Given the description of an element on the screen output the (x, y) to click on. 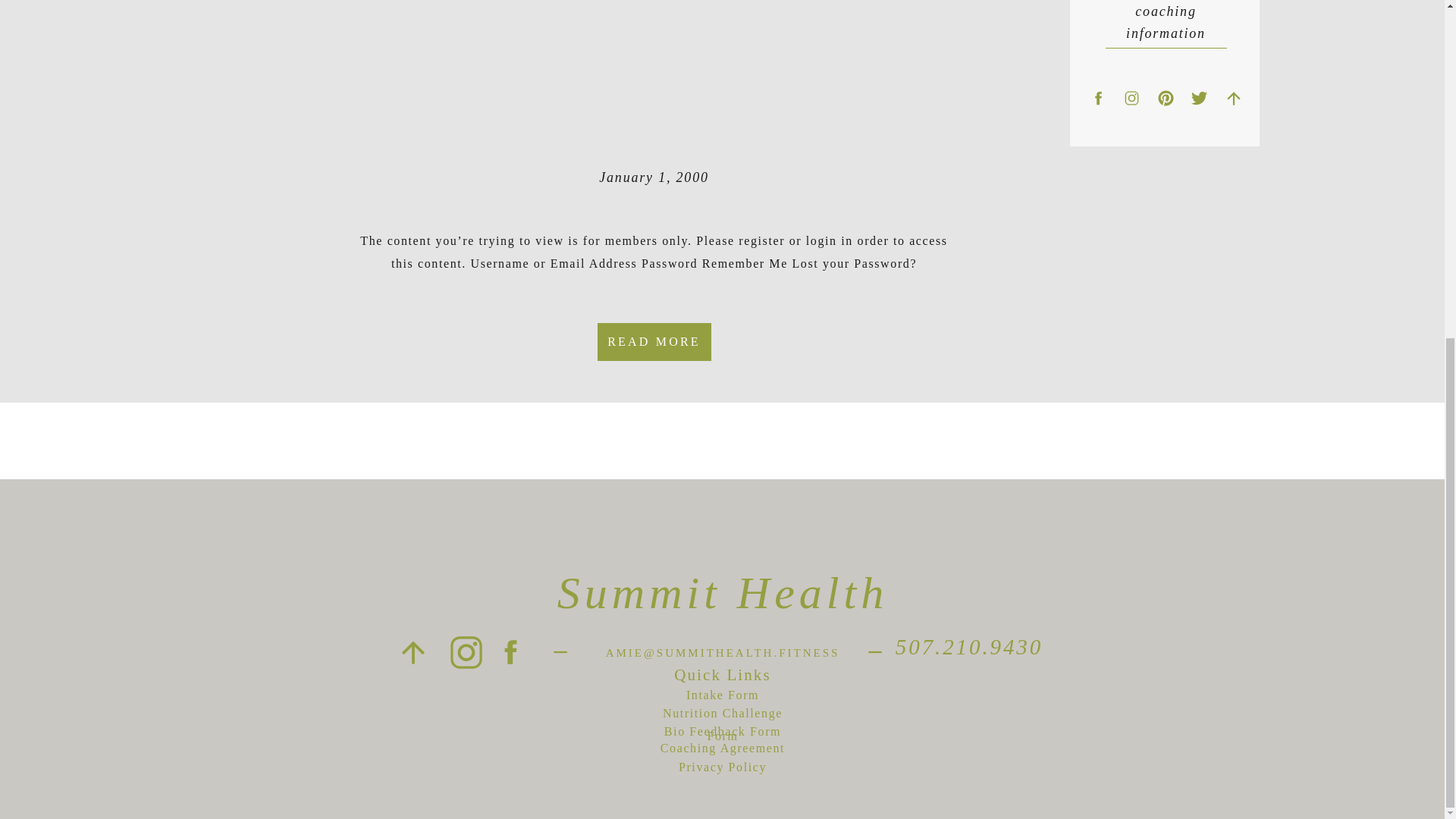
Nutrition Challenge Form (722, 714)
Coaching Agreement (722, 750)
Bio Feedback Form (722, 733)
Contact us for coaching information (1166, 11)
Privacy Policy (722, 773)
READ MORE (653, 341)
Intake Form (723, 696)
